Given the description of an element on the screen output the (x, y) to click on. 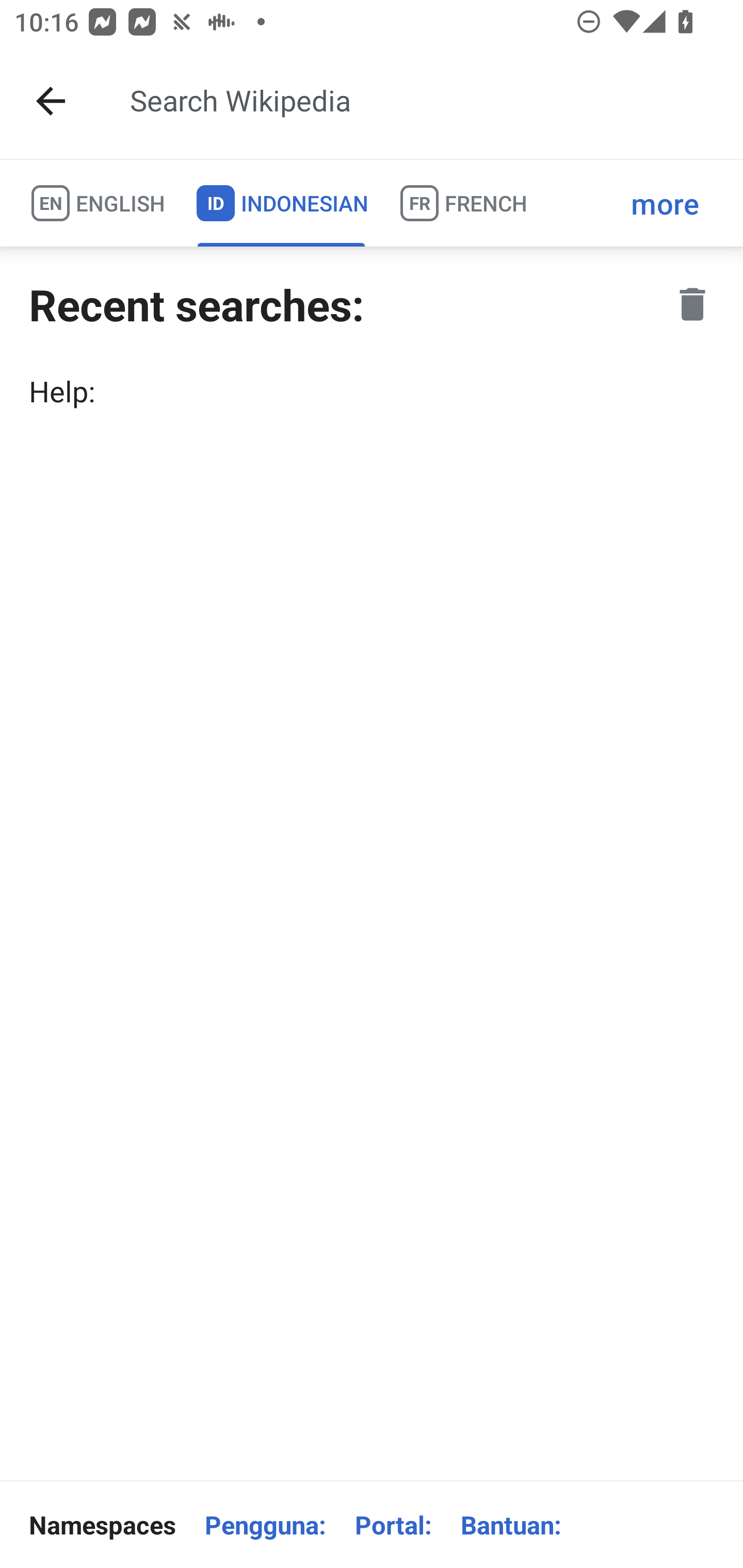
Navigate up (50, 101)
Search Wikipedia (420, 100)
EN ENGLISH (96, 202)
FR FRENCH (462, 202)
more (664, 202)
Clear history (692, 304)
Help: (371, 391)
Namespaces (102, 1524)
Pengguna: (265, 1524)
Portal: (393, 1524)
Bantuan: (510, 1524)
